Given the description of an element on the screen output the (x, y) to click on. 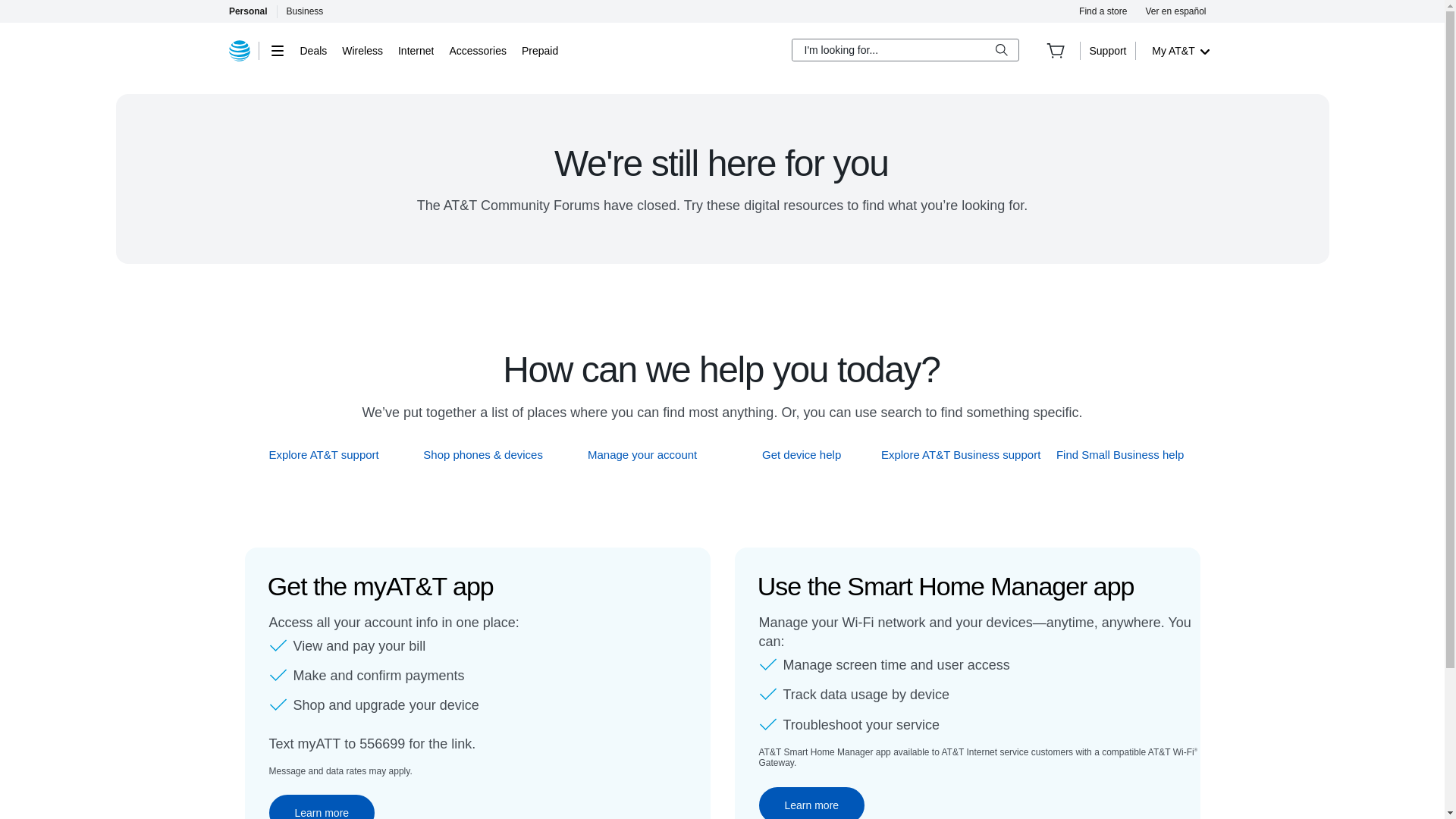
Manage your account (642, 454)
Accessories (476, 50)
Internet (415, 50)
Support (1107, 50)
Personal (247, 10)
Learn more (320, 806)
Find Small Business help (1121, 454)
Prepaid (539, 50)
Learn more (811, 803)
Find a store (1102, 10)
Cart (1055, 50)
Search (1000, 50)
Deals (313, 50)
Get device help (801, 454)
Business (305, 10)
